Given the description of an element on the screen output the (x, y) to click on. 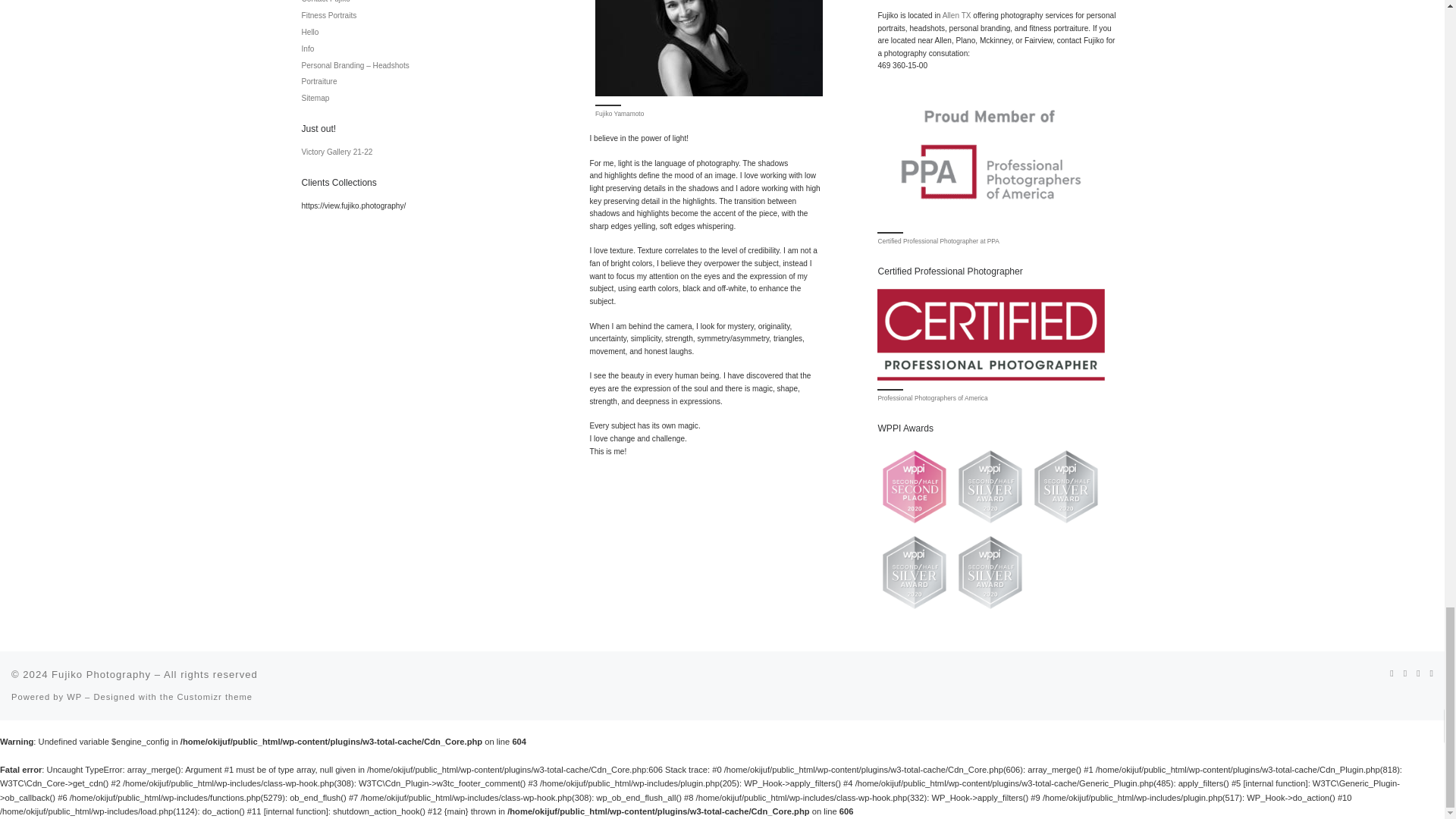
Fujiko Photography (100, 674)
Customizr theme (215, 696)
Powered by WordPress (73, 696)
